Given the description of an element on the screen output the (x, y) to click on. 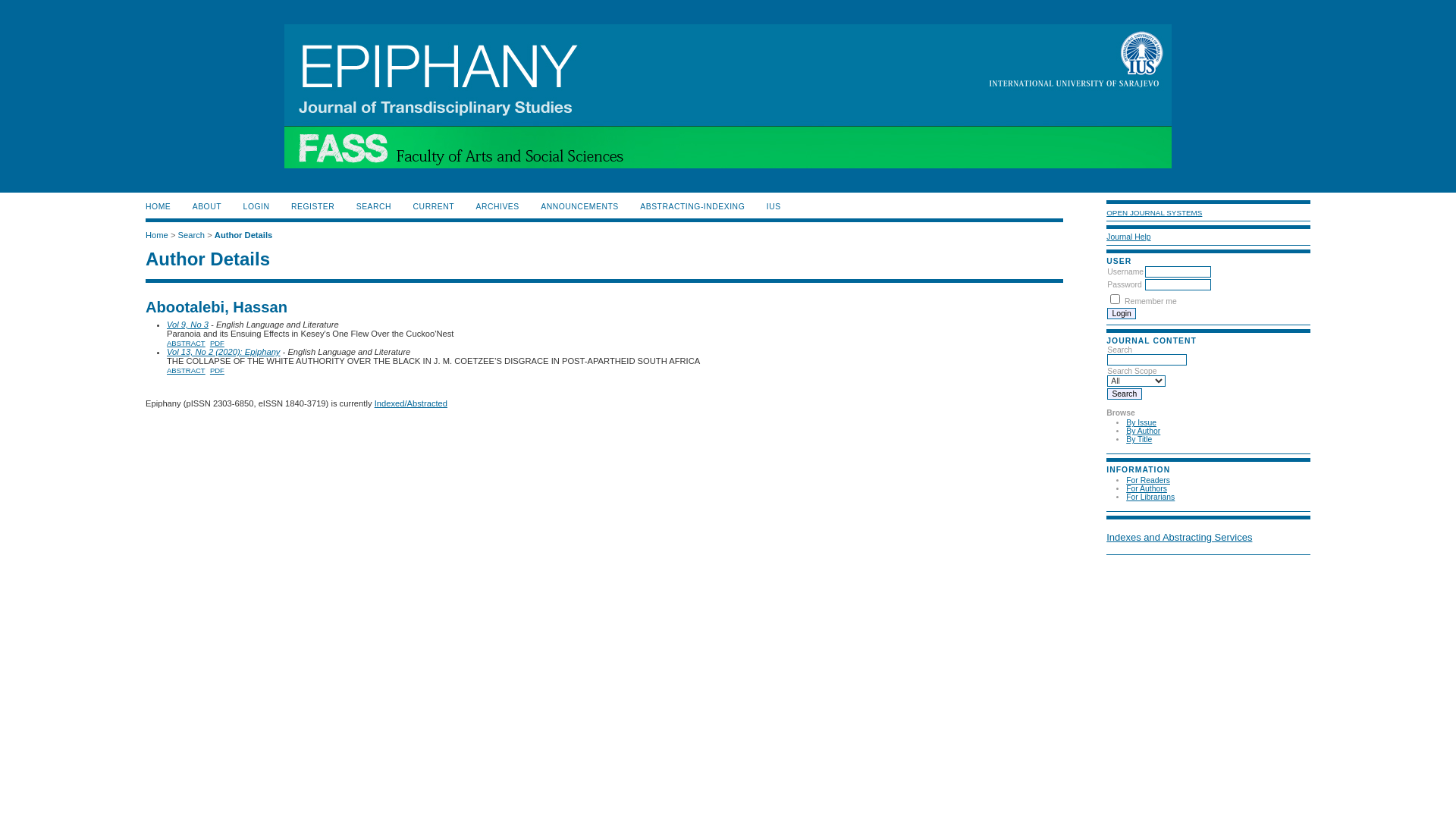
For Authors Element type: text (1146, 488)
Search Element type: text (1124, 393)
HOME Element type: text (157, 206)
Author Details Element type: text (243, 234)
Indexes and Abstracting Services Element type: text (1179, 536)
REGISTER Element type: text (312, 206)
PDF Element type: text (217, 342)
Vol 13, No 2 (2020): Epiphany Element type: text (222, 351)
By Author Element type: text (1143, 430)
ABOUT Element type: text (206, 206)
Indexed/Abstracted Element type: text (410, 402)
For Librarians Element type: text (1150, 496)
SEARCH Element type: text (373, 206)
Journal Help Element type: text (1128, 236)
ABSTRACTING-INDEXING Element type: text (692, 206)
Home Element type: text (156, 234)
Vol 9, No 3 Element type: text (187, 324)
ANNOUNCEMENTS Element type: text (579, 206)
ABSTRACT Element type: text (185, 370)
By Title Element type: text (1138, 439)
ABSTRACT Element type: text (185, 342)
By Issue Element type: text (1141, 422)
For Readers Element type: text (1148, 480)
OPEN JOURNAL SYSTEMS Element type: text (1153, 212)
IUS Element type: text (773, 206)
ARCHIVES Element type: text (496, 206)
Search Element type: text (191, 234)
LOGIN Element type: text (256, 206)
Login Element type: text (1121, 313)
CURRENT Element type: text (433, 206)
PDF Element type: text (217, 370)
